Given the description of an element on the screen output the (x, y) to click on. 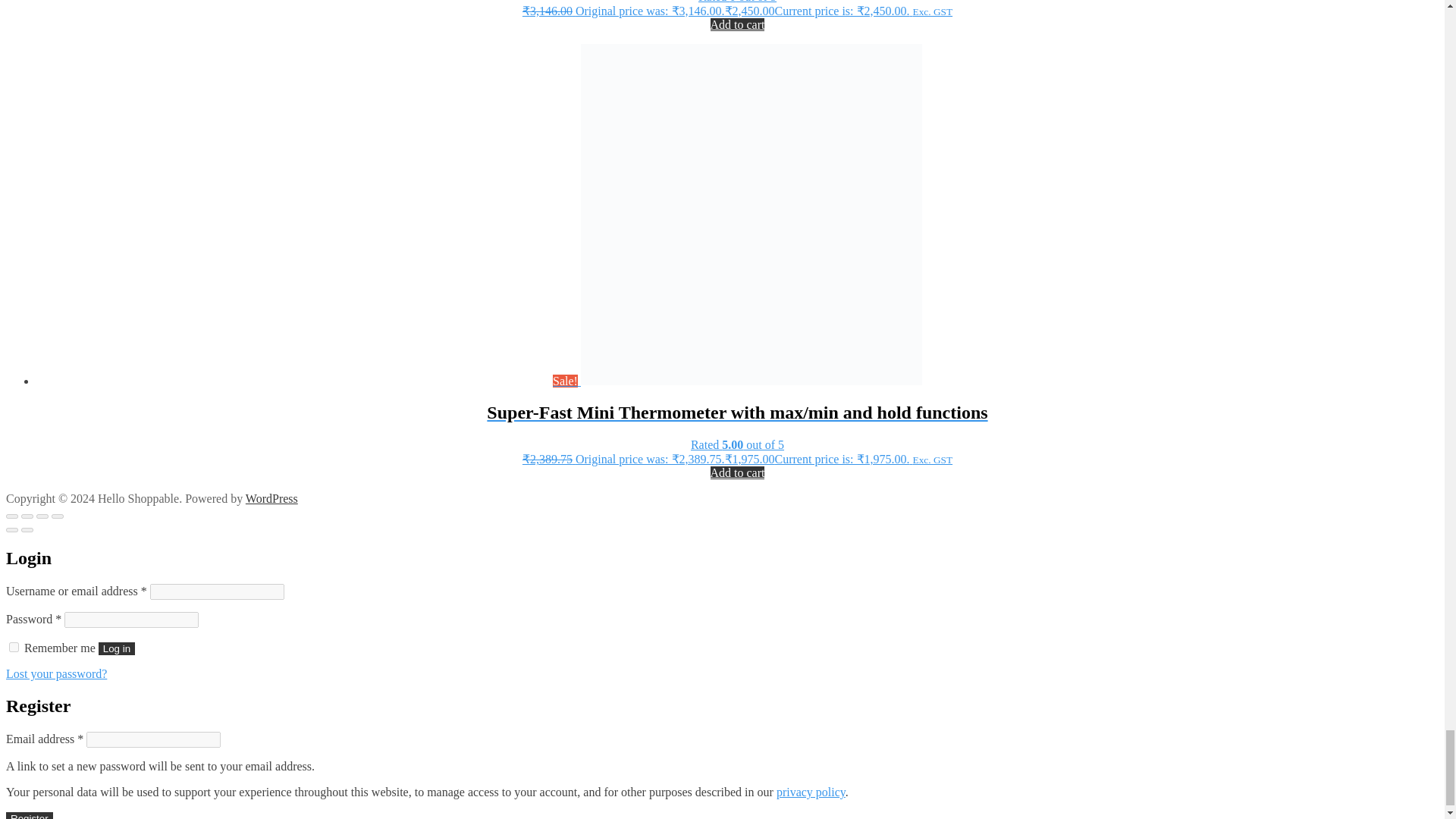
forever (13, 646)
